Given the description of an element on the screen output the (x, y) to click on. 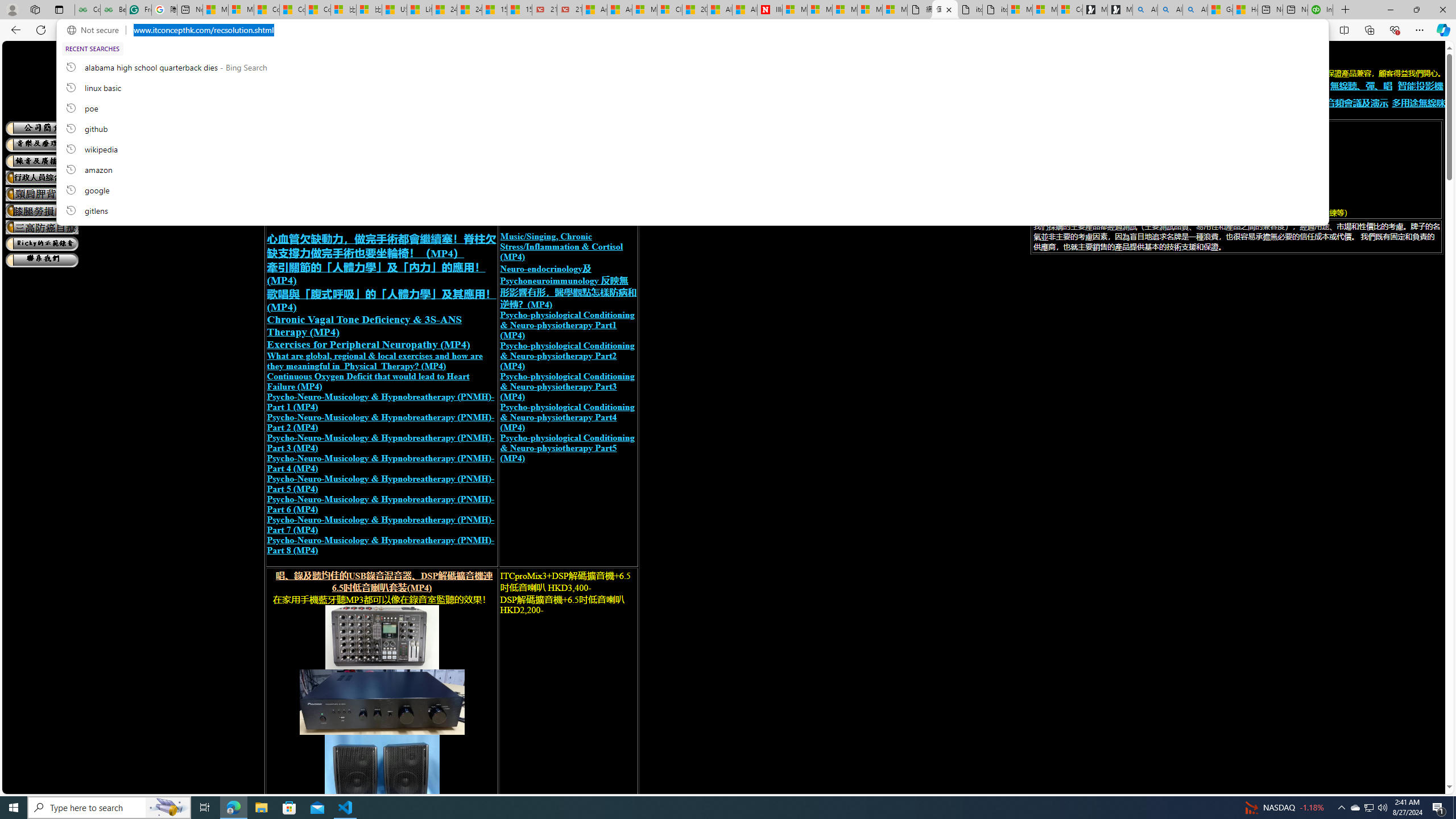
Not secure (95, 29)
